Given the description of an element on the screen output the (x, y) to click on. 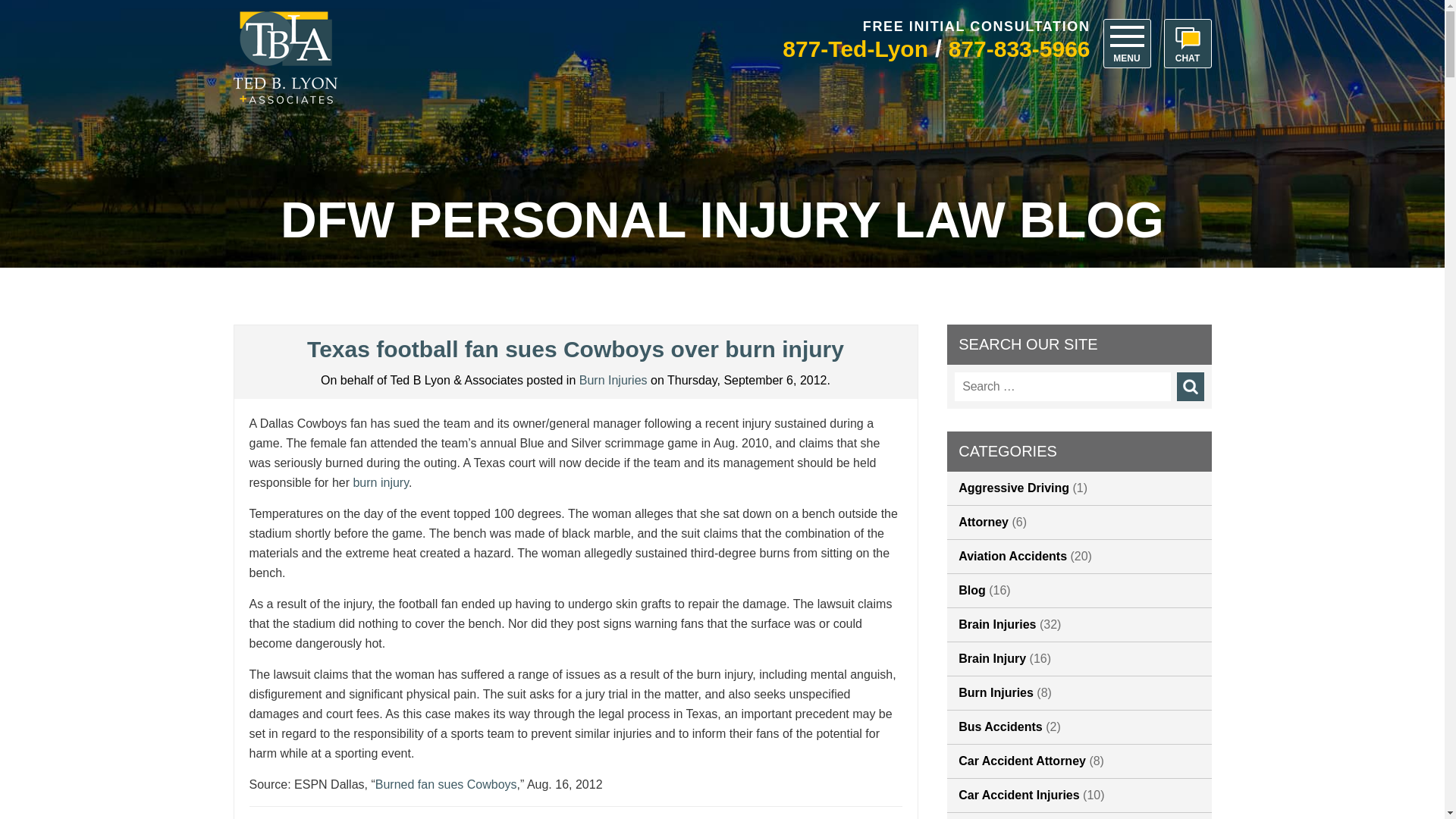
MENU (1126, 42)
Search (1190, 386)
Search (1190, 386)
877-Ted-Lyon (855, 48)
877-833-5966 (1019, 48)
